Given the description of an element on the screen output the (x, y) to click on. 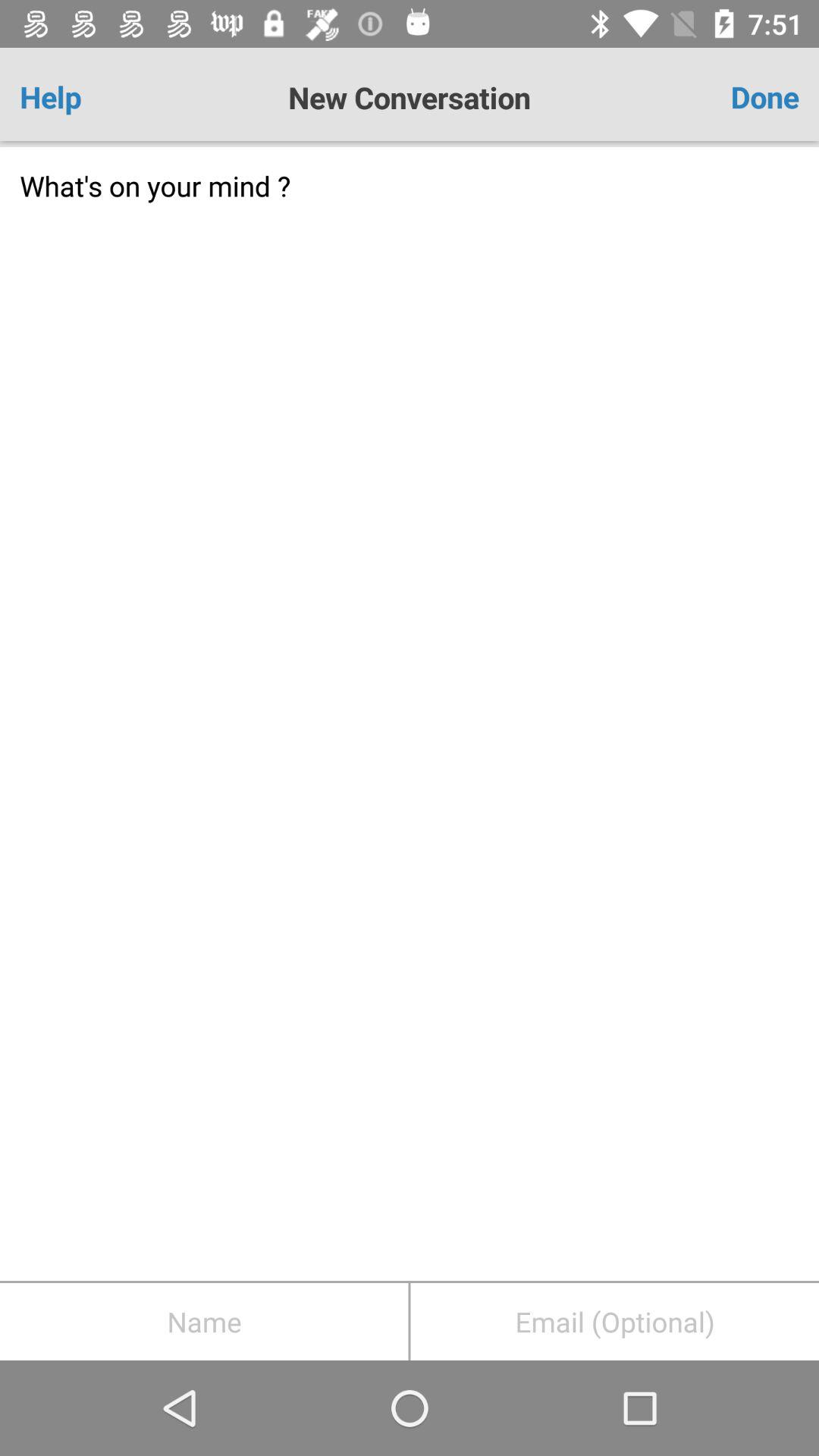
turn off icon at the top left corner (83, 97)
